Given the description of an element on the screen output the (x, y) to click on. 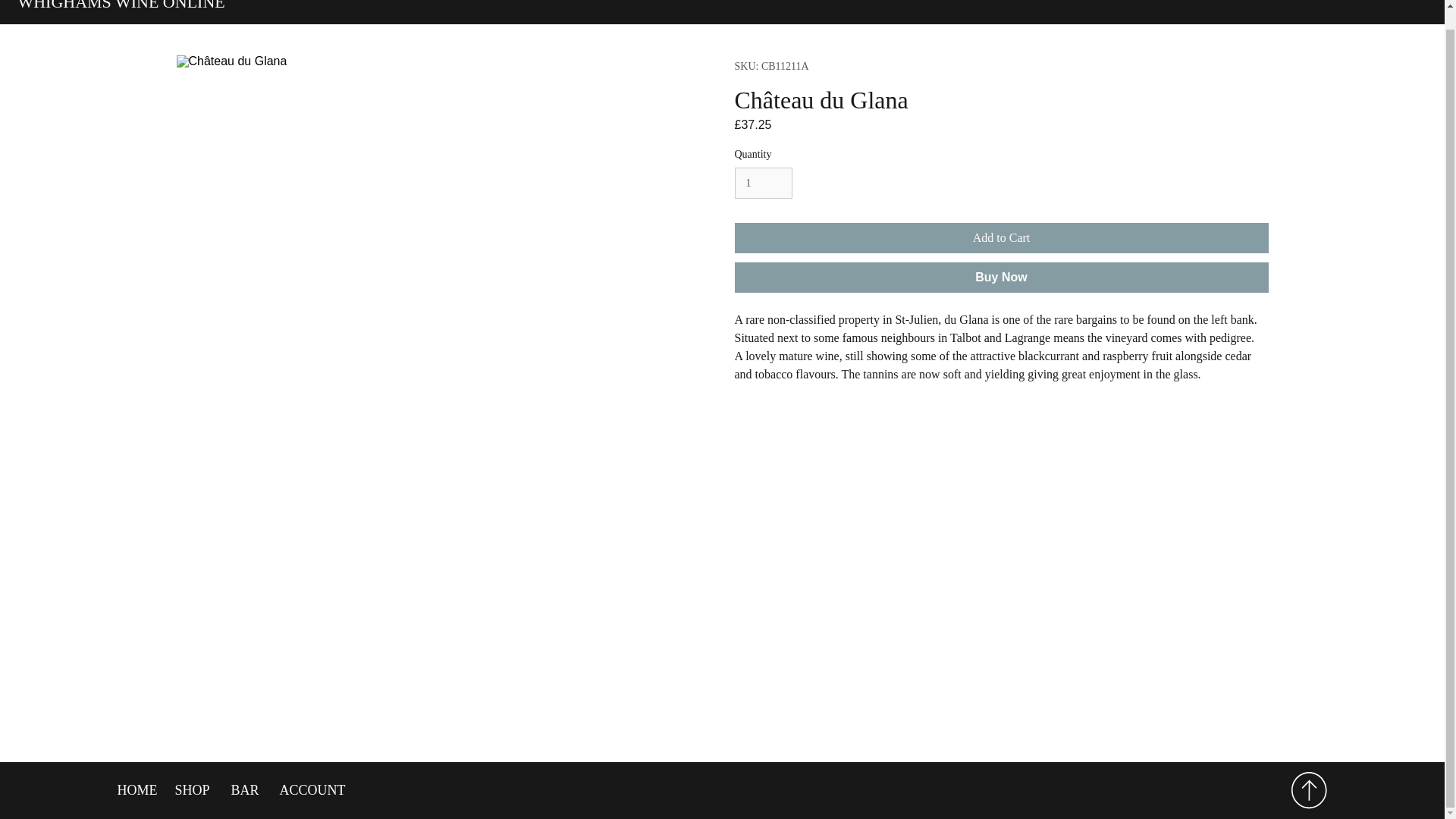
Add to Cart (1000, 237)
BAR (243, 789)
Buy Now (1000, 277)
1 (762, 183)
ACCOUNT (309, 789)
SHOP (191, 789)
HOME (134, 789)
